Given the description of an element on the screen output the (x, y) to click on. 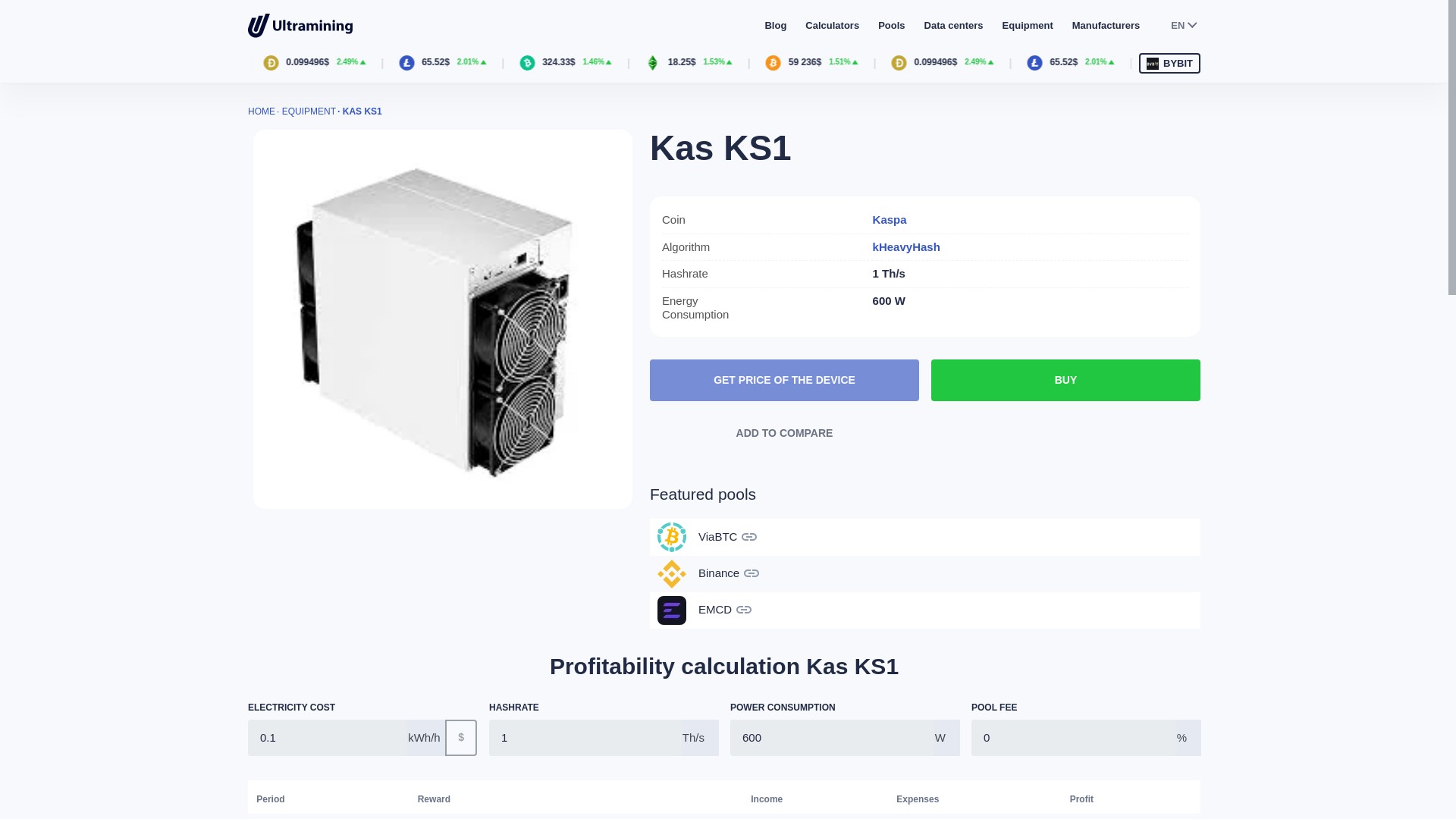
1 (585, 737)
Equipment (1027, 25)
EN (1183, 25)
Pools (890, 25)
Calculators (832, 25)
Manufacturers (1105, 25)
0.1 (327, 737)
0 (1073, 737)
BYBIT (1168, 63)
EQUIPMENT (309, 111)
